Given the description of an element on the screen output the (x, y) to click on. 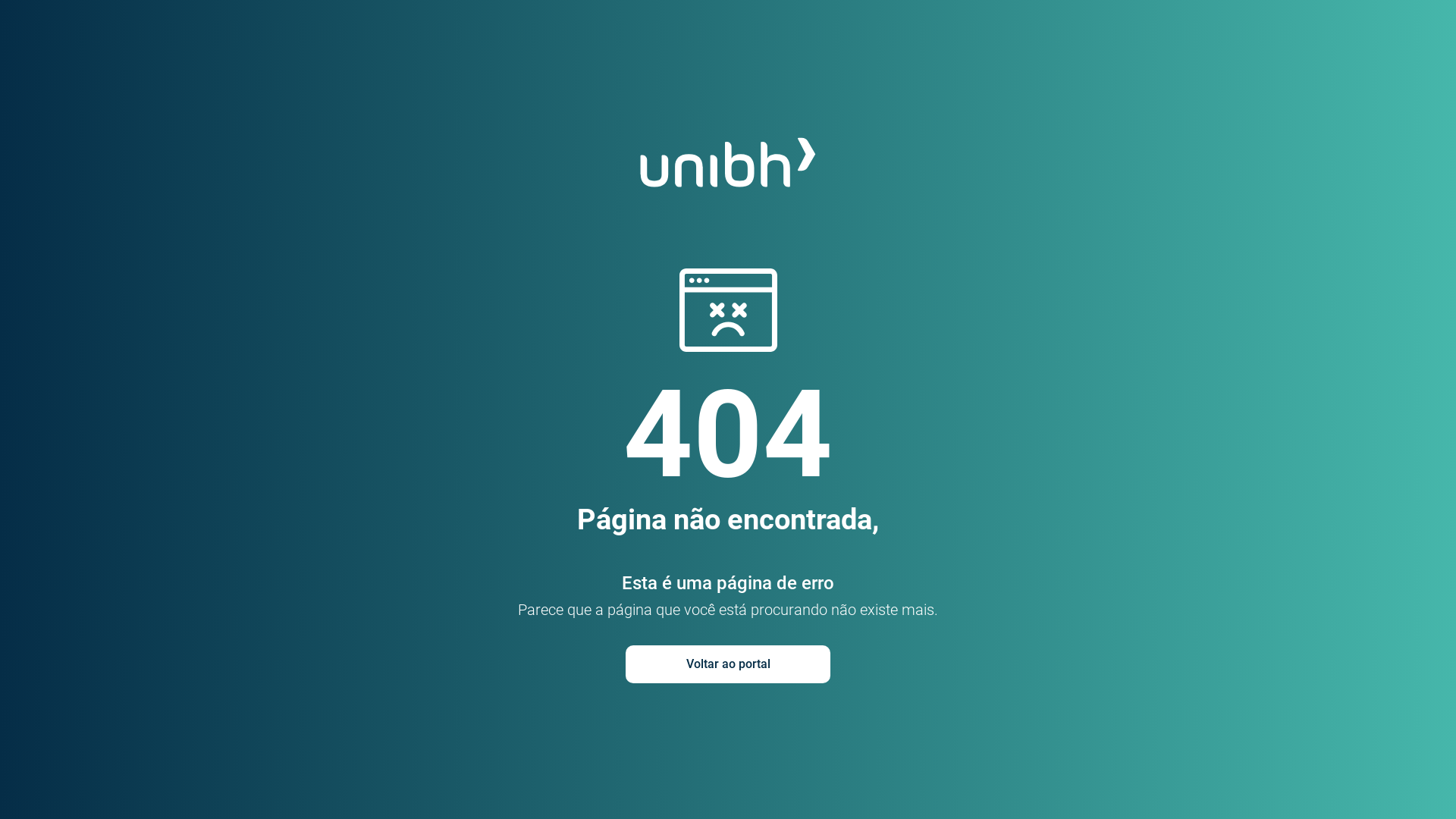
Voltar ao portal Element type: text (727, 664)
